Given the description of an element on the screen output the (x, y) to click on. 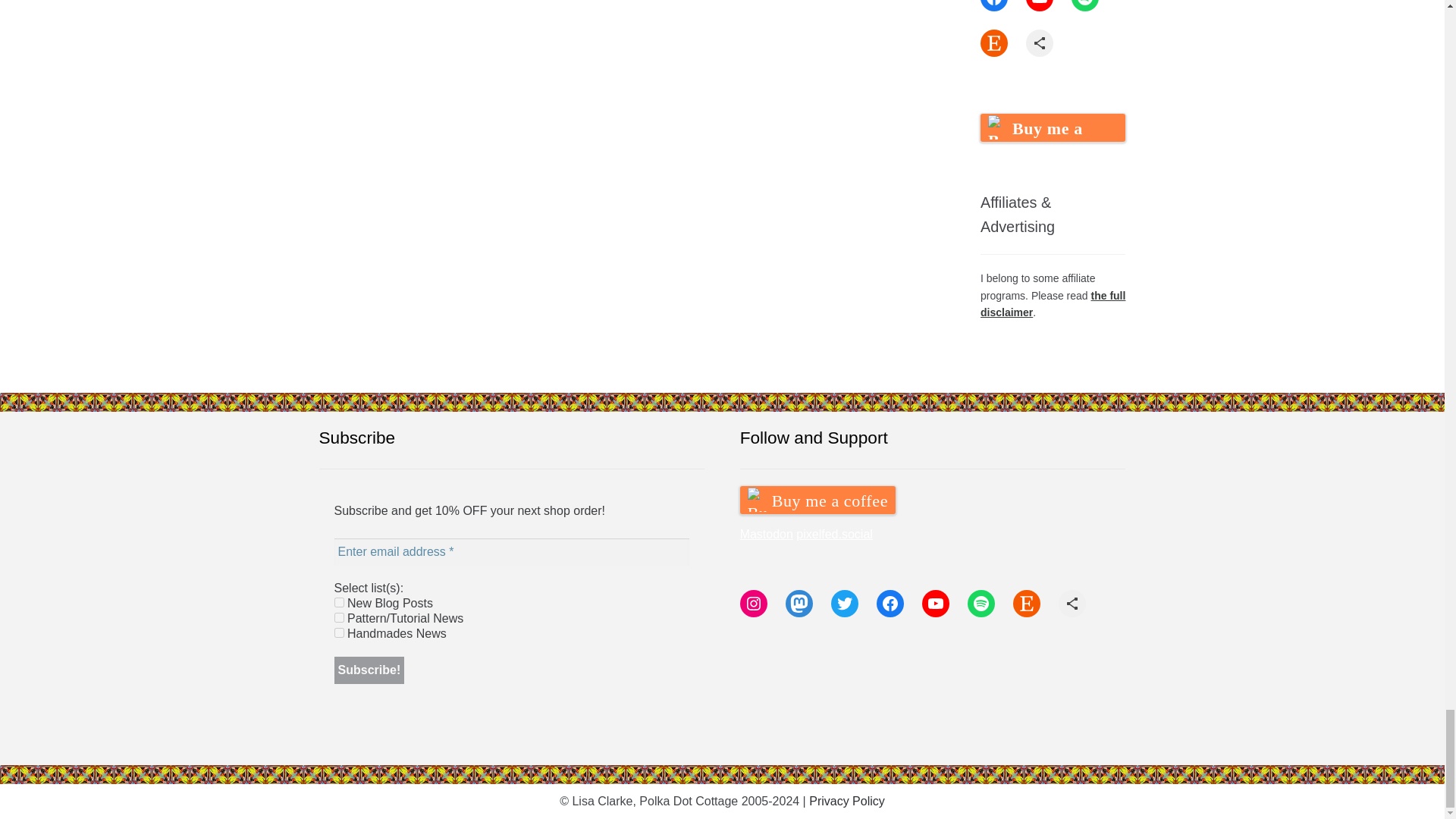
7 (338, 633)
Subscribe! (369, 669)
5 (338, 602)
6 (338, 617)
